Given the description of an element on the screen output the (x, y) to click on. 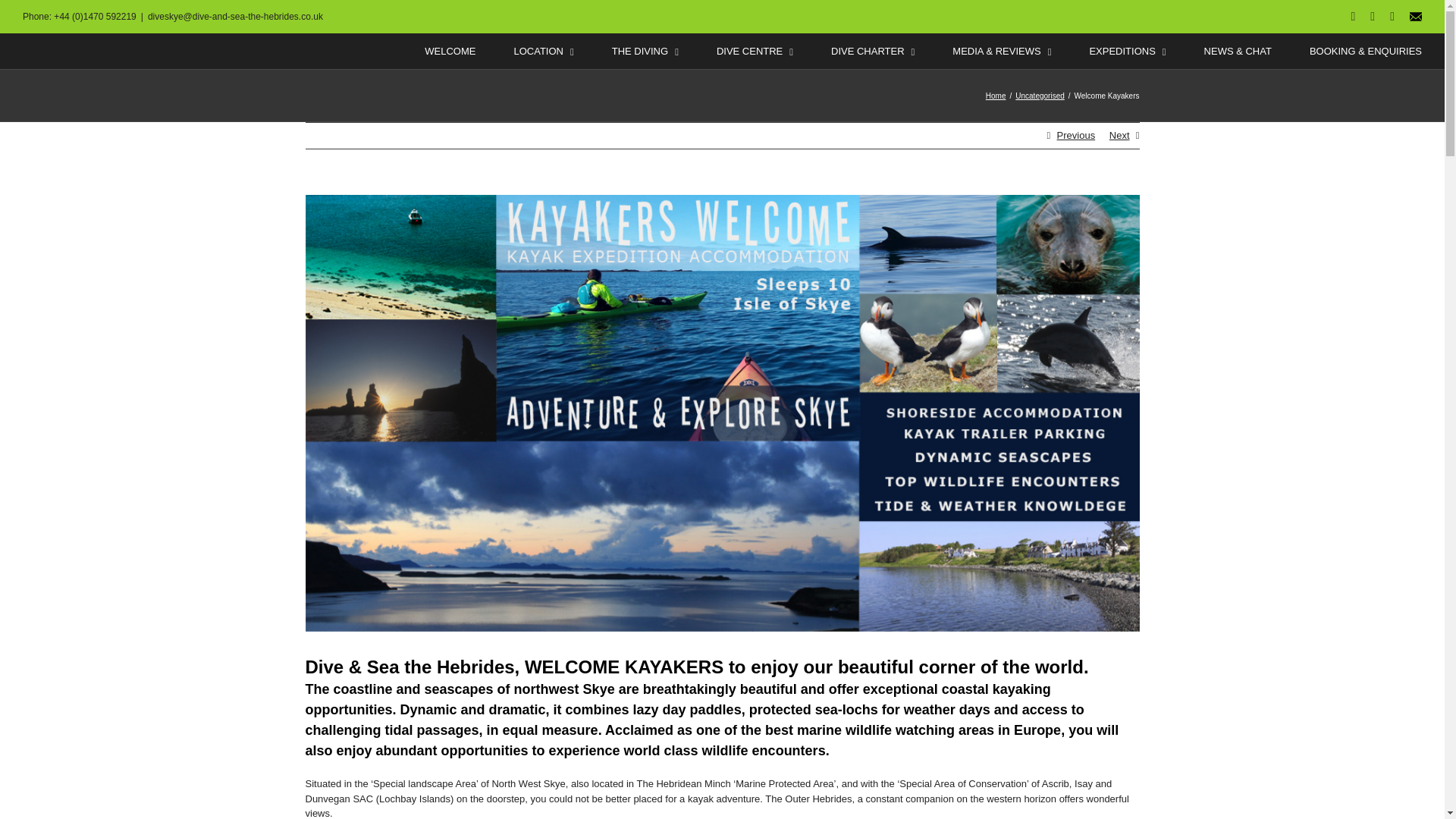
Custom (1415, 16)
DIVE CHARTER (872, 50)
DIVE CENTRE (754, 50)
LOCATION (543, 50)
Custom (1415, 16)
THE DIVING (644, 50)
WELCOME (450, 50)
